Given the description of an element on the screen output the (x, y) to click on. 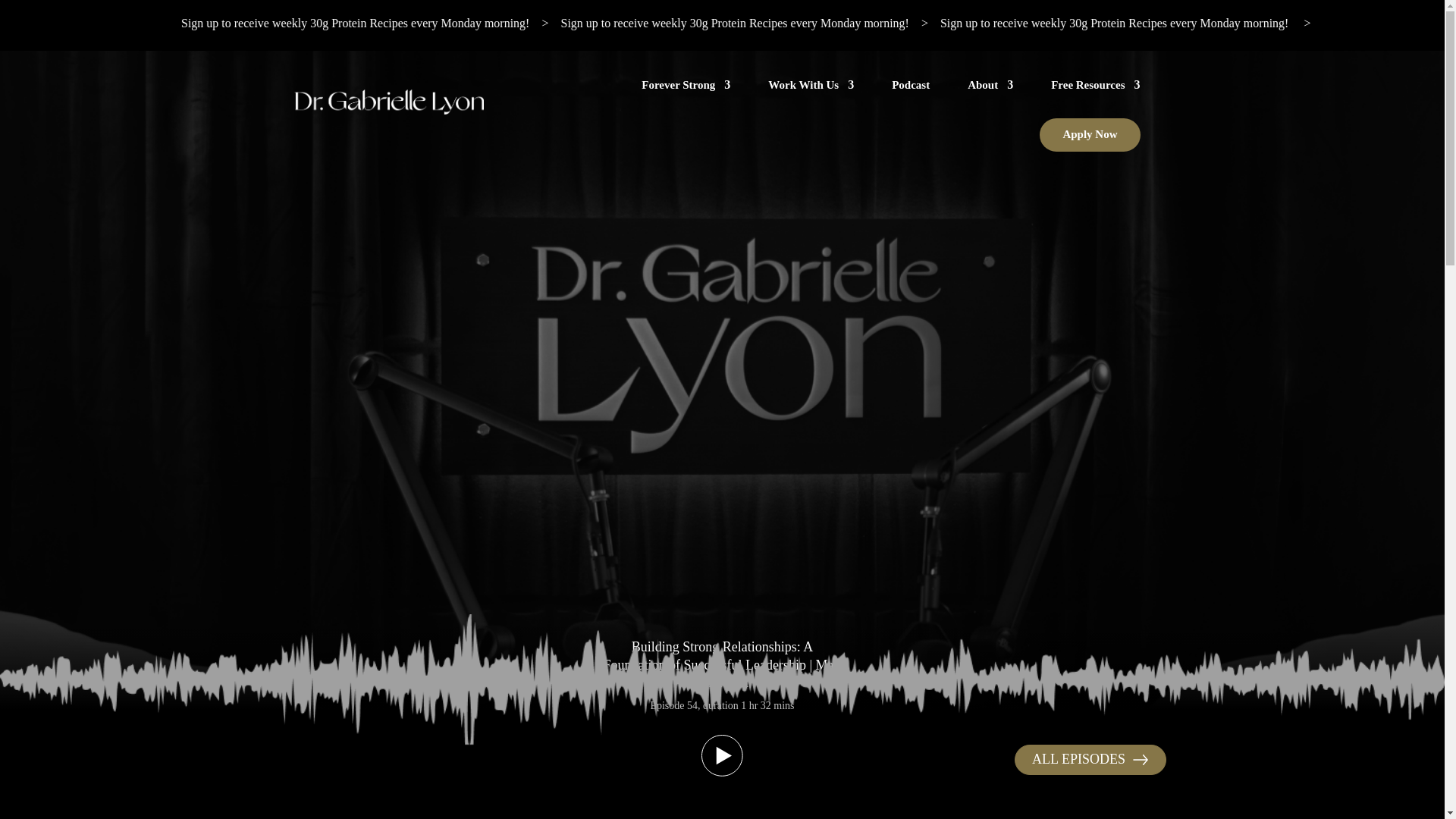
Free Resources (1095, 84)
Work With Us (810, 84)
Forever Strong (686, 84)
Apply Now (1089, 134)
